Given the description of an element on the screen output the (x, y) to click on. 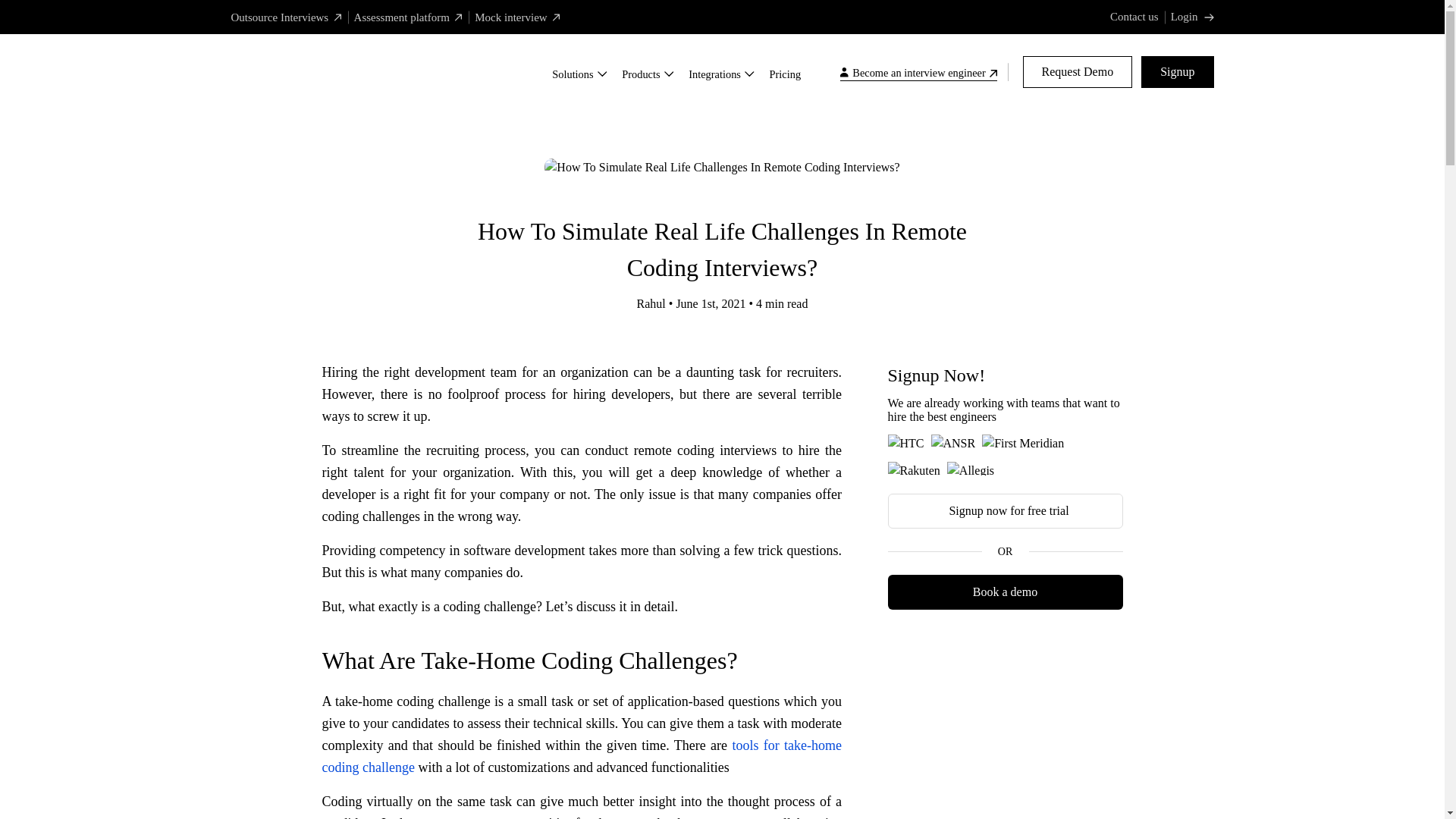
Outsource Interviews (285, 16)
Login (1192, 16)
Mock interview (517, 16)
Assessment platform (408, 16)
Contact us (1133, 16)
